Given the description of an element on the screen output the (x, y) to click on. 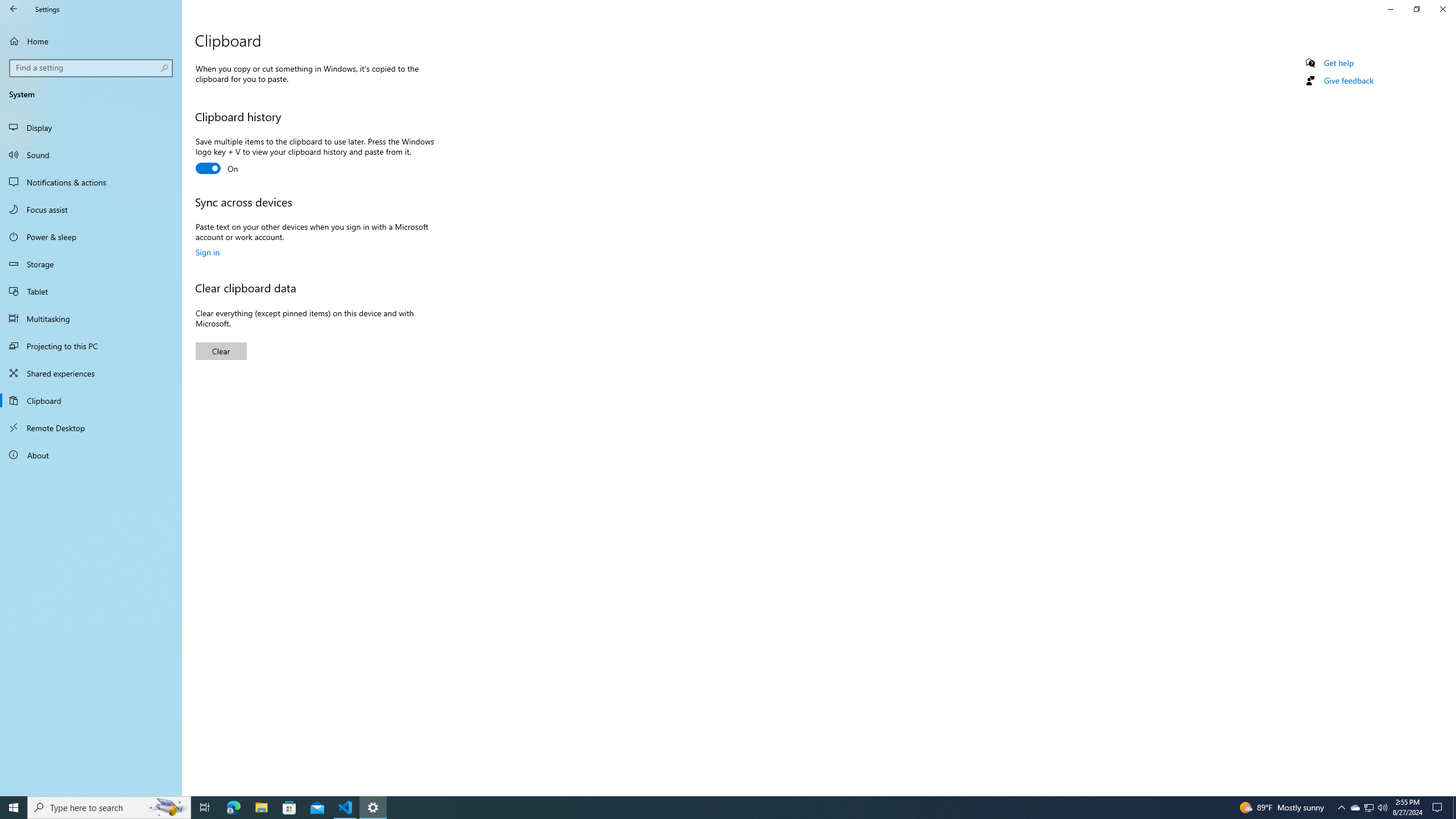
Sound (91, 154)
Microsoft Edge (233, 807)
Give feedback (1348, 80)
Storage (91, 263)
Action Center, No new notifications (1439, 807)
Task View (204, 807)
Tablet (91, 290)
About (91, 454)
Remote Desktop (91, 427)
Shared experiences (91, 372)
Start (13, 807)
